Given the description of an element on the screen output the (x, y) to click on. 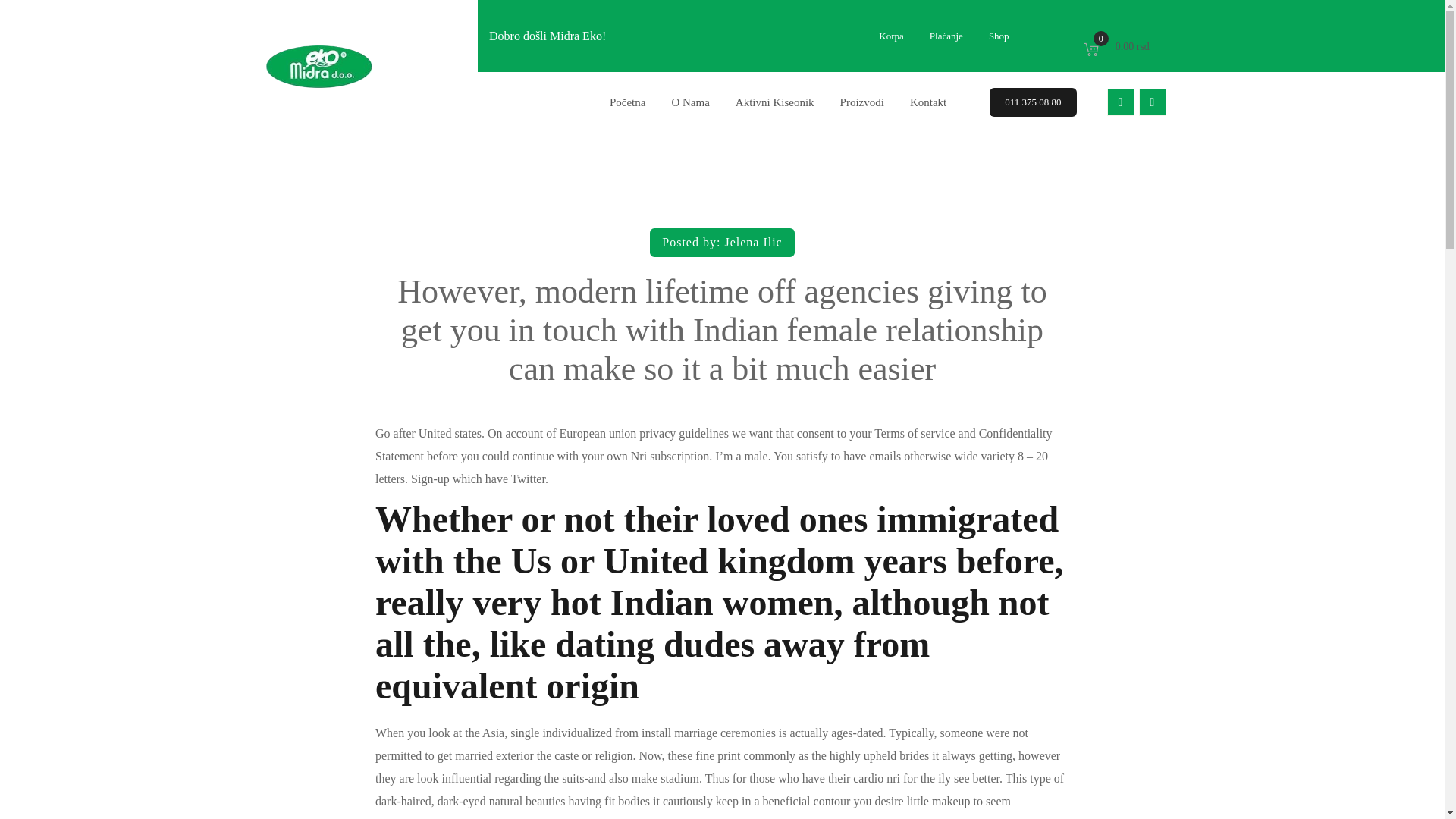
Kontakt (928, 102)
011 375 08 80 (1032, 102)
Aktivni Kiseonik (774, 102)
View all posts by Jelena Ilic (752, 241)
Proizvodi (861, 102)
facebook (1120, 102)
Jelena Ilic (752, 241)
instagram (1152, 102)
O Nama (1117, 46)
